Given the description of an element on the screen output the (x, y) to click on. 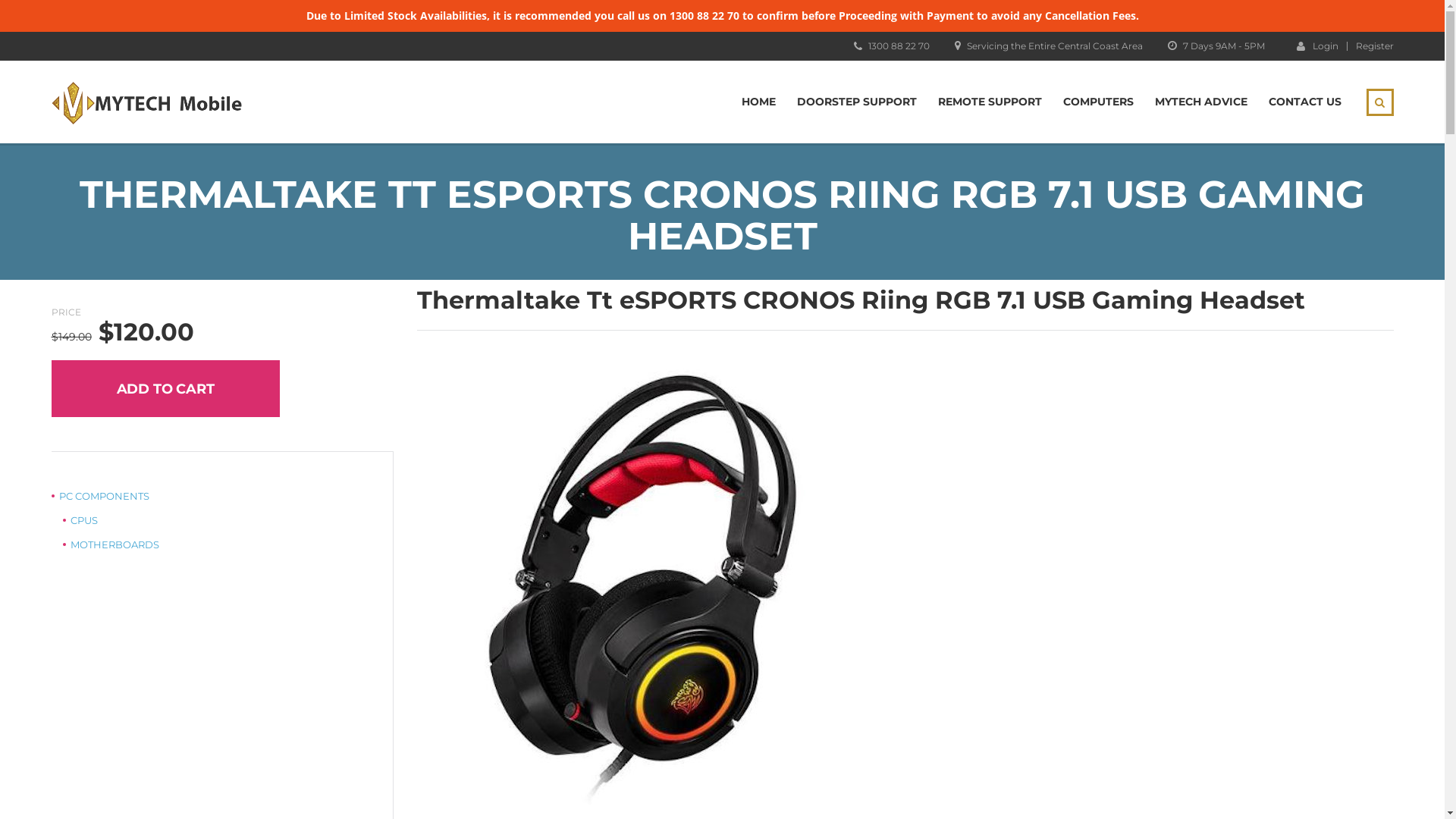
DOORSTEP SUPPORT Element type: text (828, 769)
MOTHERBOARDS Element type: text (110, 544)
ADD TO CART Element type: text (165, 388)
MYTECH ADVICE Element type: text (1200, 101)
SPECIALS Element type: text (1155, 769)
HOME Element type: text (758, 101)
CPUS Element type: text (79, 519)
REMOTE SUPPORT Element type: text (938, 769)
Register Element type: text (1374, 45)
NEW CUSTOM BUILT COMPUTERS Element type: text (1272, 769)
PROBLEMS & SOLUTIONS Element type: text (1058, 769)
HOME Element type: text (748, 769)
TERMS Element type: text (919, 787)
PC COMPONENTS Element type: text (100, 495)
COMPUTERS Element type: text (1098, 101)
CONTACT US Element type: text (1303, 101)
DOORSTEP SUPPORT Element type: text (856, 101)
CONTACT US Element type: text (858, 787)
REMOTE SUPPORT Element type: text (989, 101)
STAFF Element type: text (965, 787)
Login Element type: text (1317, 45)
MYTECH ADVICE Element type: text (773, 787)
